Given the description of an element on the screen output the (x, y) to click on. 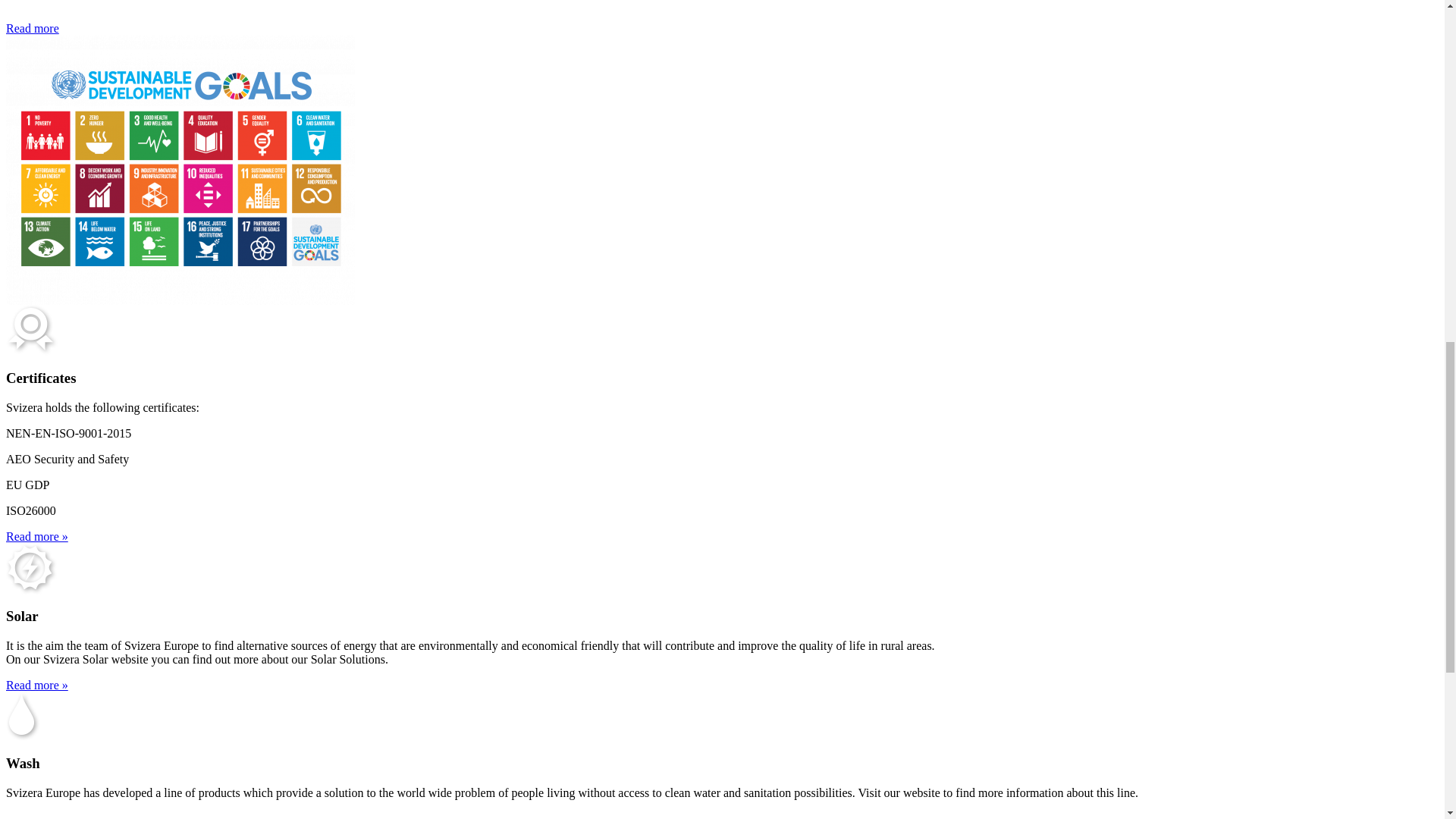
Read more (32, 28)
